Given the description of an element on the screen output the (x, y) to click on. 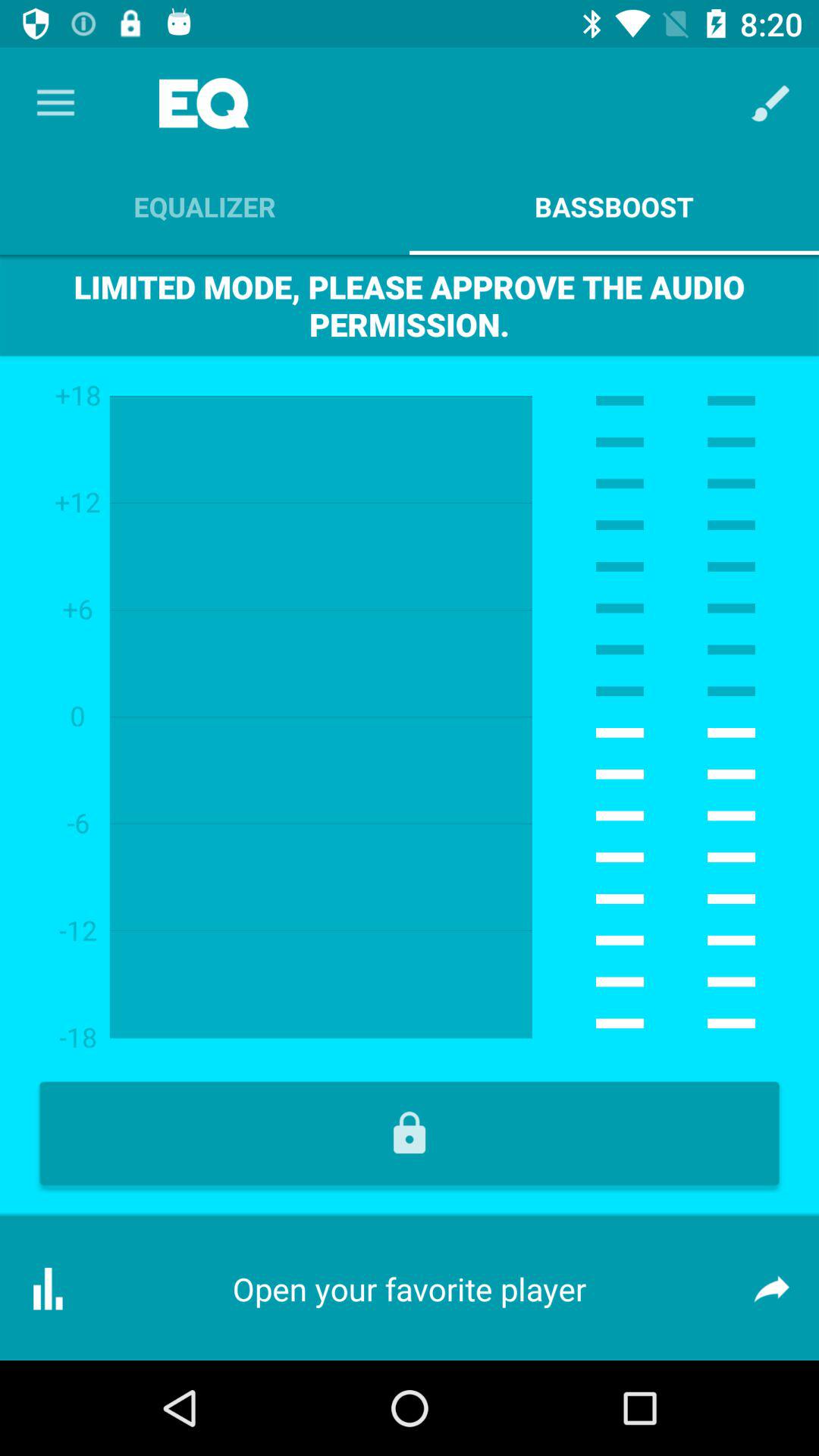
turn off item above the limited mode please icon (204, 206)
